Given the description of an element on the screen output the (x, y) to click on. 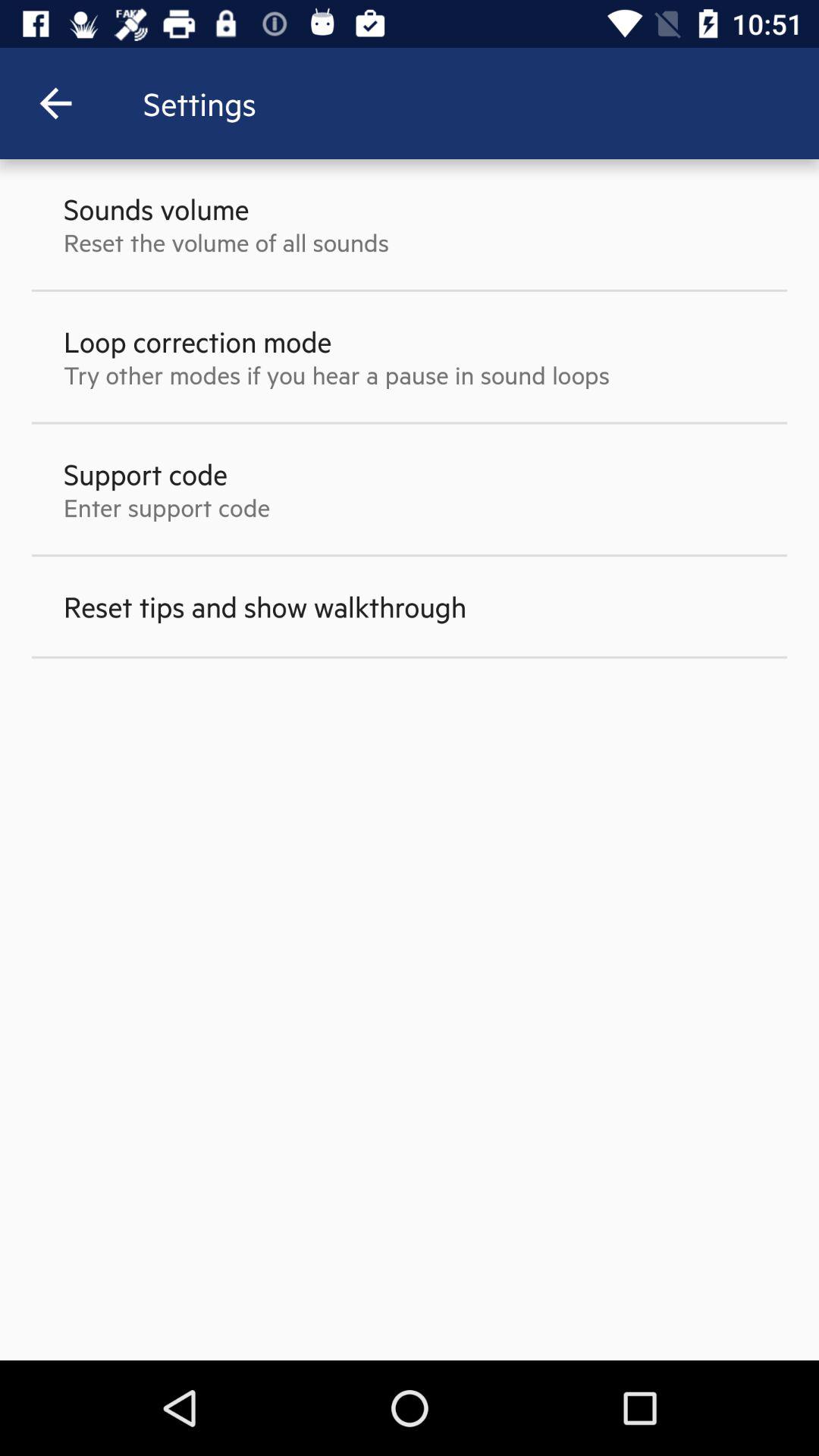
jump until try other modes (336, 374)
